Given the description of an element on the screen output the (x, y) to click on. 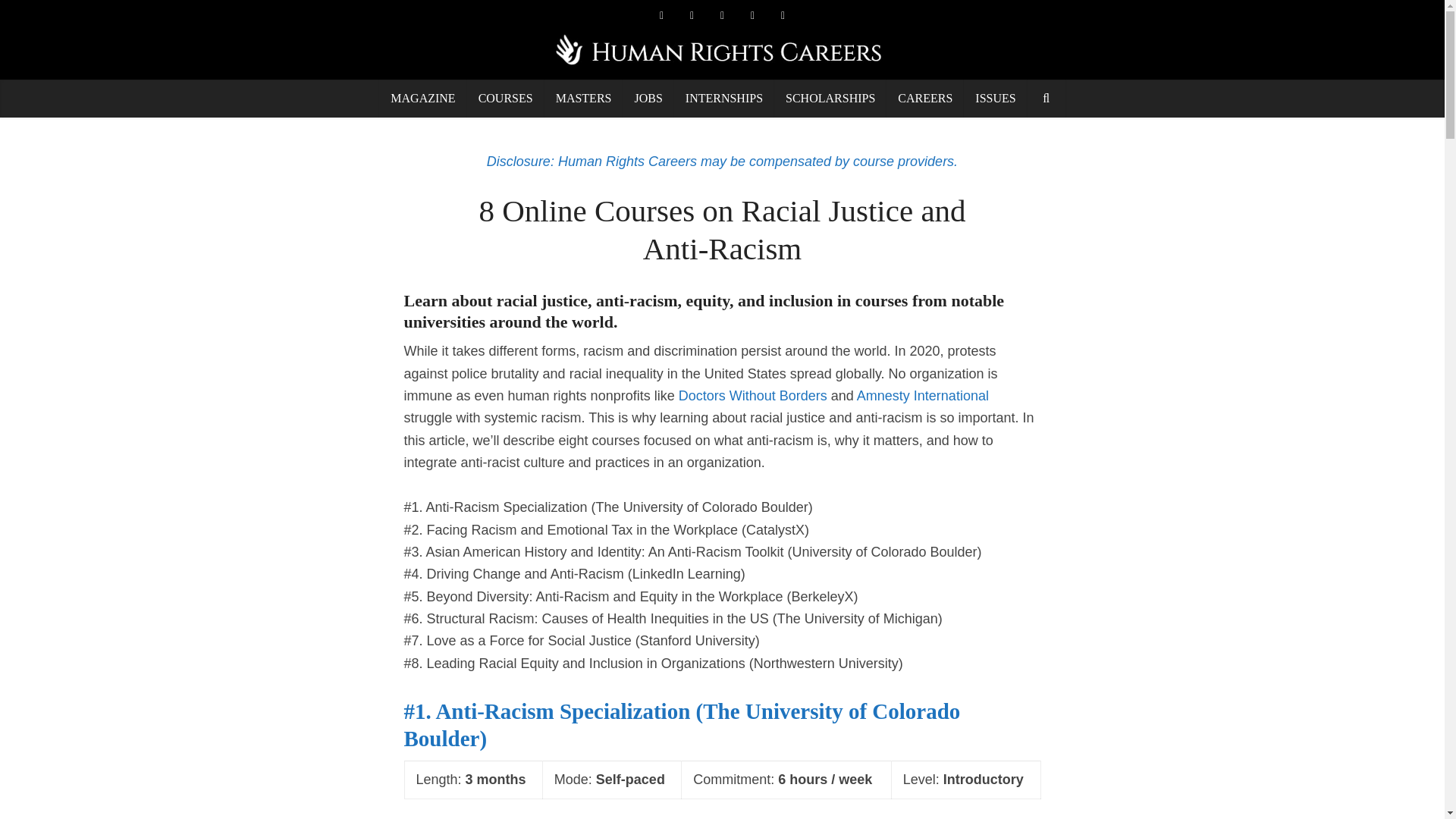
JOBS (647, 98)
COURSES (505, 98)
MASTERS (583, 98)
MAGAZINE (421, 98)
